Given the description of an element on the screen output the (x, y) to click on. 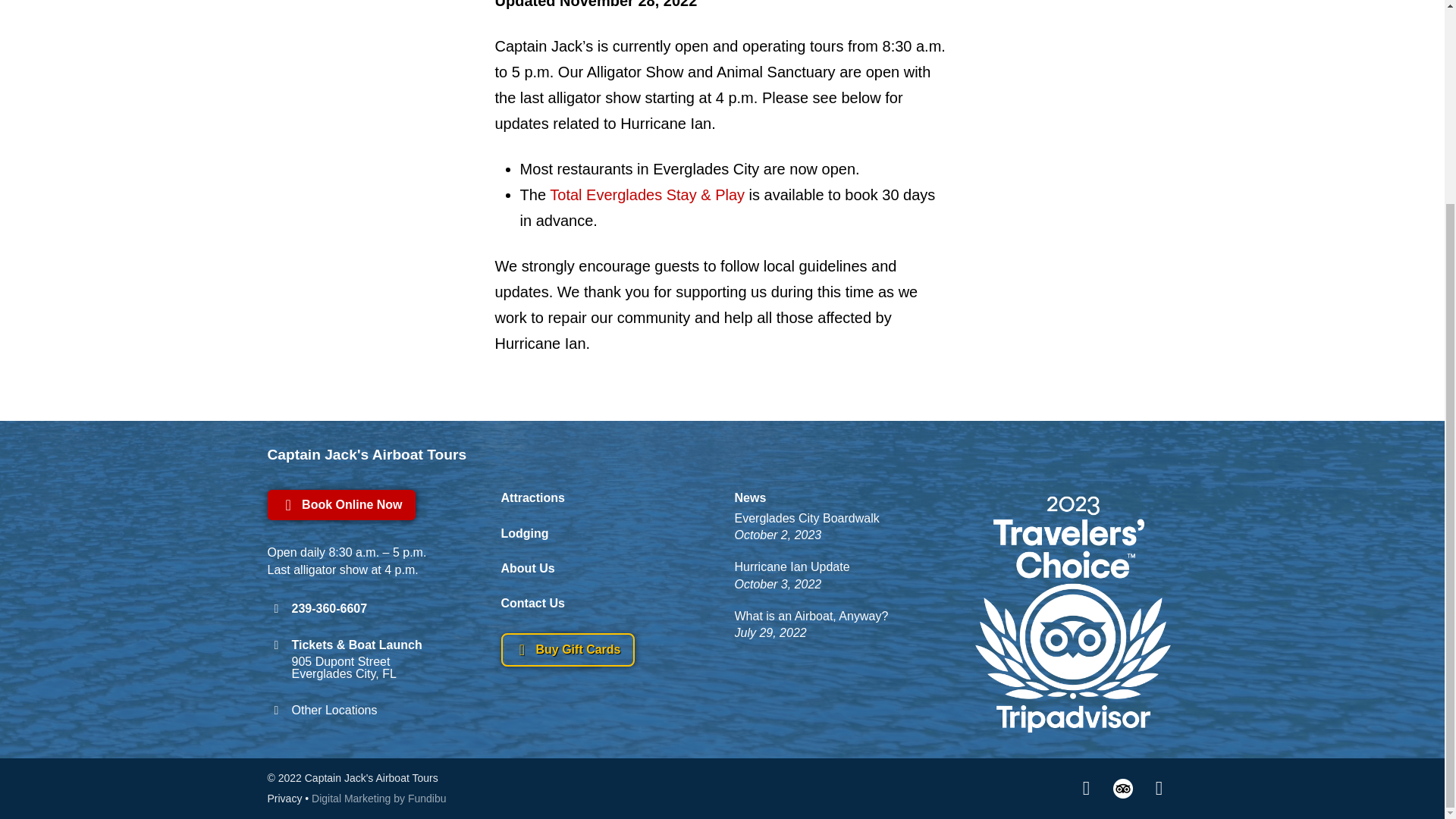
239-360-6607 (316, 608)
Captain Jack's Airboat Tours (721, 455)
Contact Us (817, 629)
Lodging (532, 594)
News (798, 580)
Digital Marketing by Fundibu (524, 524)
Other Locations (838, 497)
About Us (378, 798)
